Given the description of an element on the screen output the (x, y) to click on. 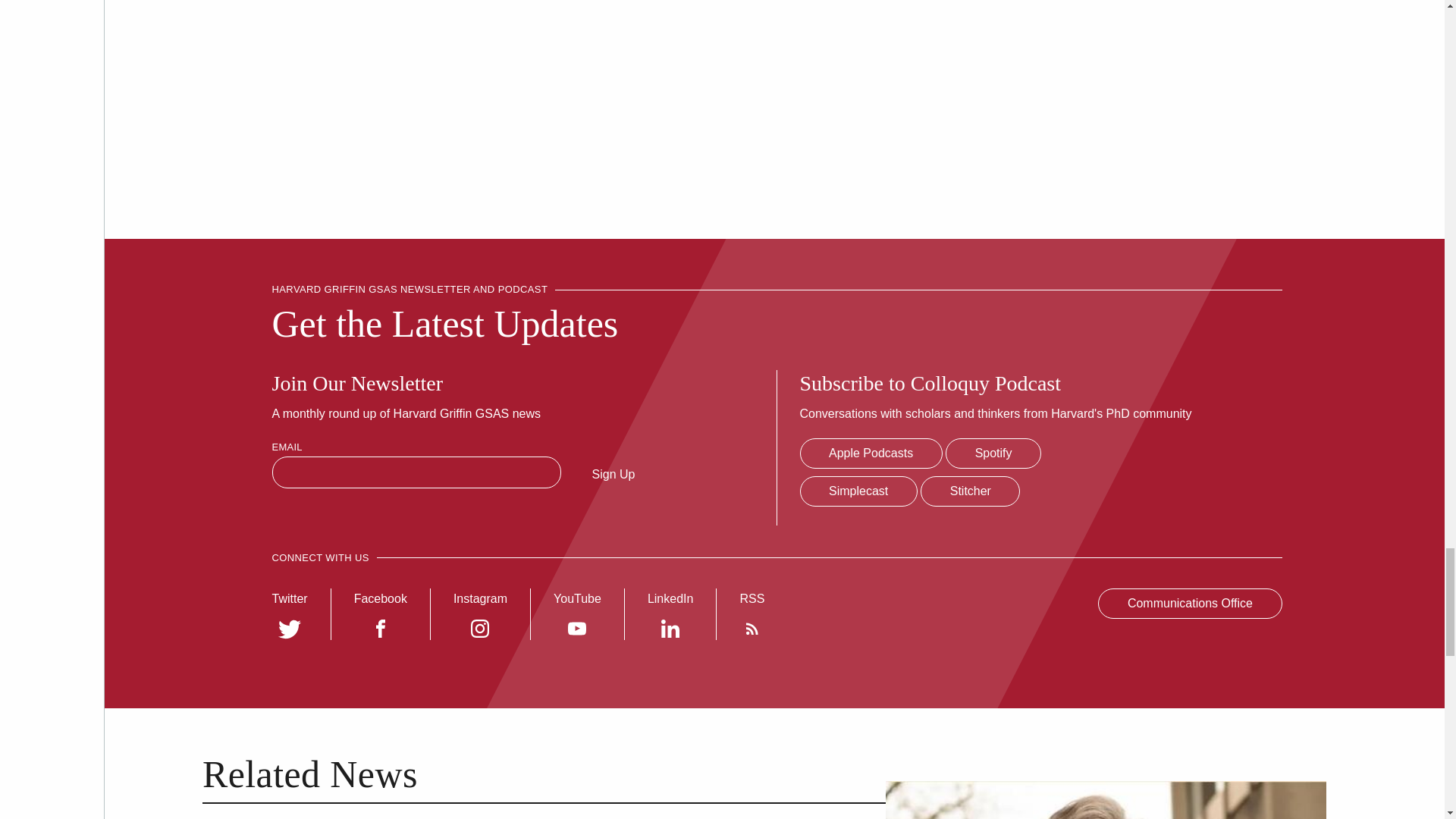
Sign Up (614, 473)
